Given the description of an element on the screen output the (x, y) to click on. 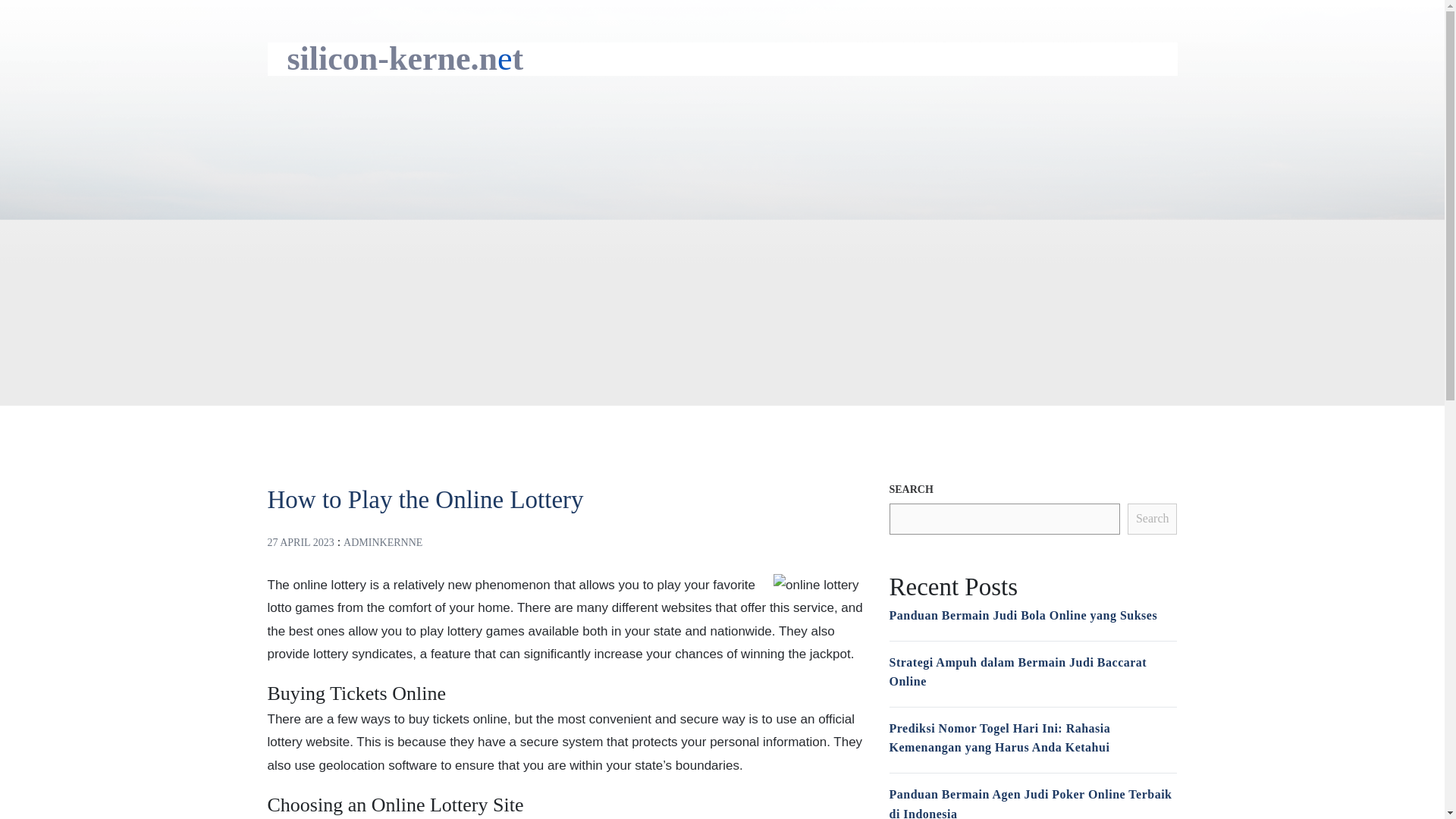
27 APRIL 2023 (299, 542)
silicon-kerne.net (404, 58)
Search (1151, 518)
Panduan Bermain Judi Bola Online yang Sukses (1022, 615)
Strategi Ampuh dalam Bermain Judi Baccarat Online (1017, 672)
Panduan Bermain Agen Judi Poker Online Terbaik di Indonesia (1030, 803)
ADMINKERNNE (382, 542)
